Given the description of an element on the screen output the (x, y) to click on. 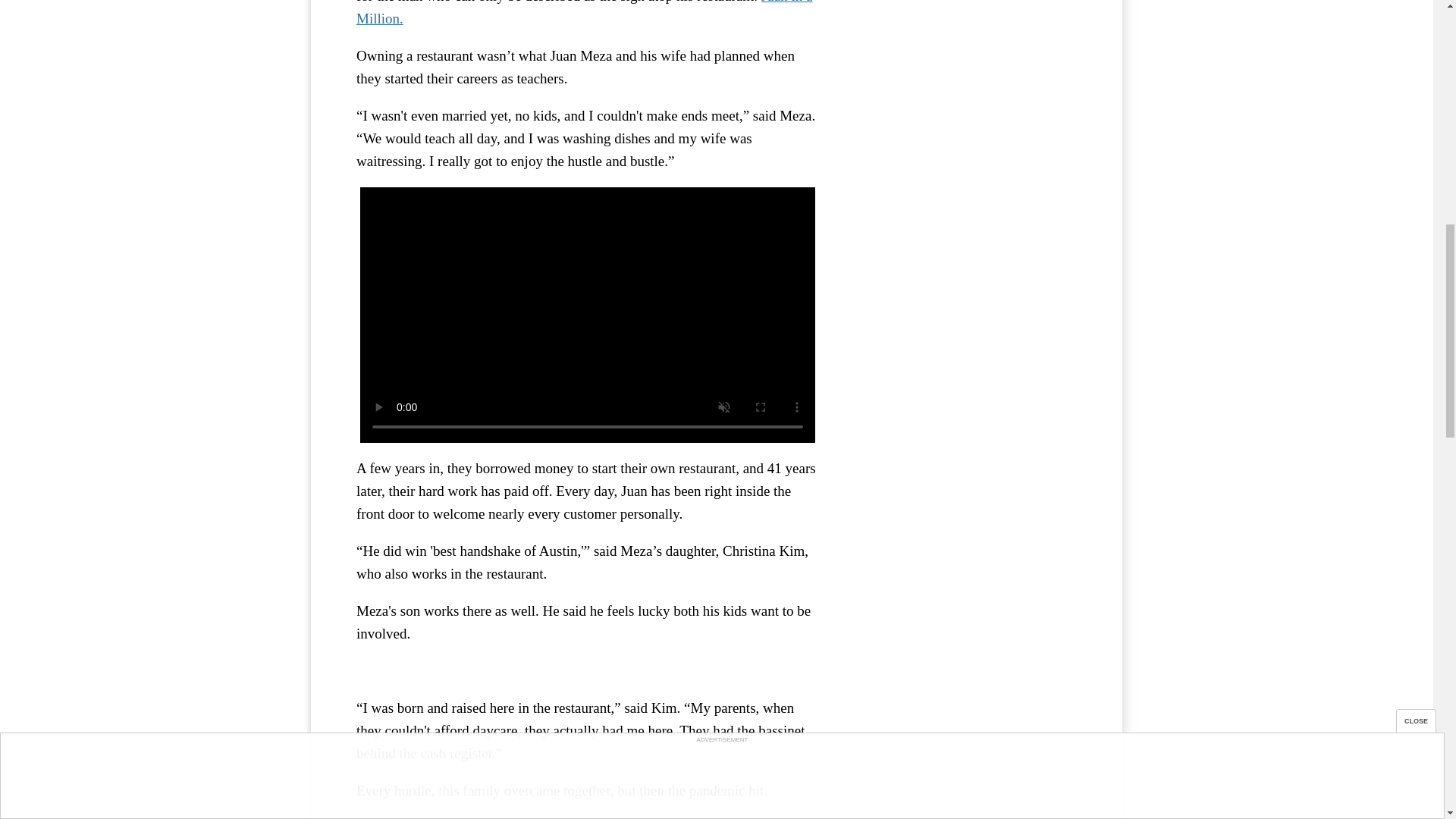
3rd party ad content (962, 178)
